Given the description of an element on the screen output the (x, y) to click on. 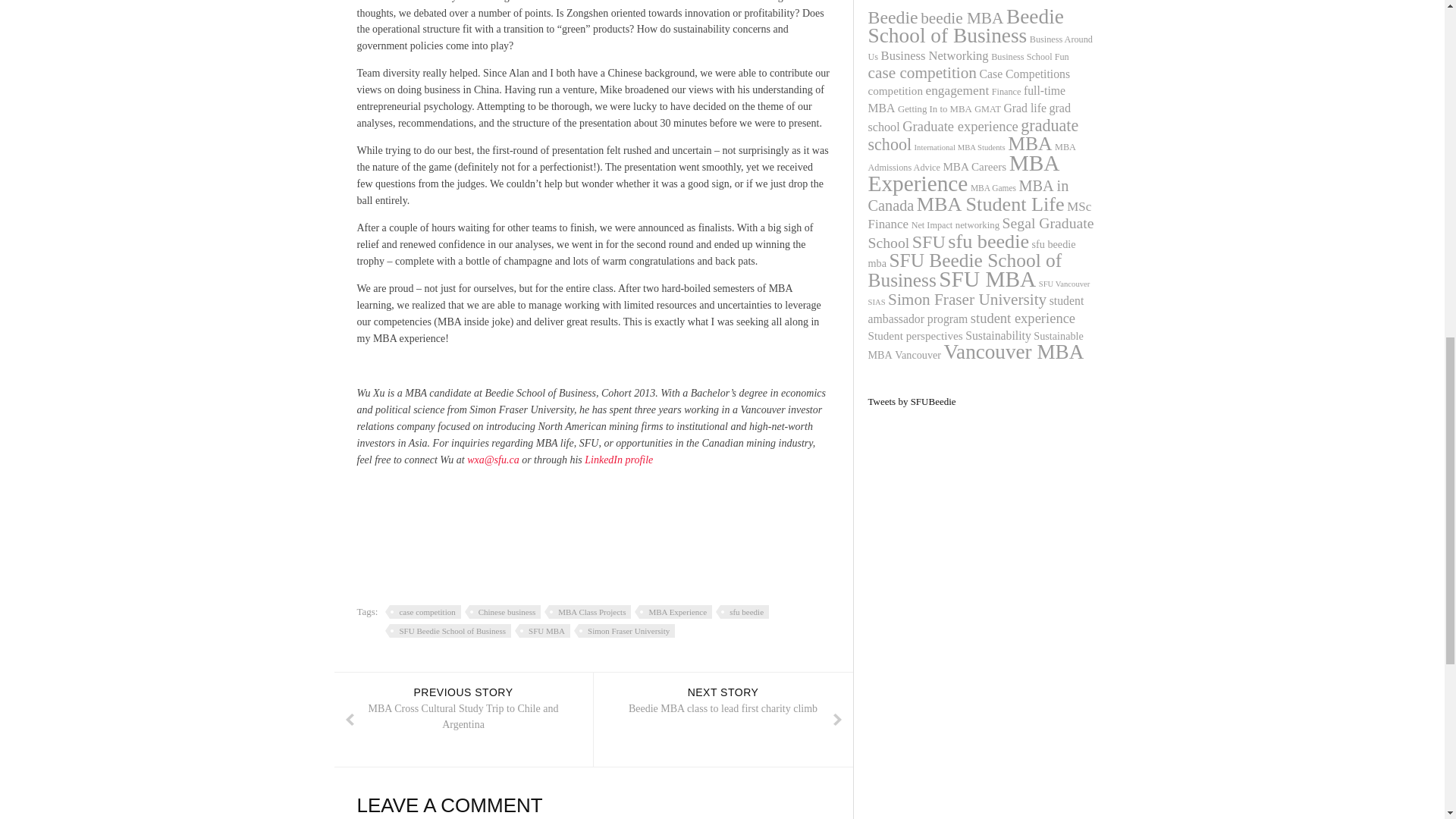
LinkedIn profile (721, 719)
MBA Class Projects (617, 460)
sfu beedie (587, 612)
Simon Fraser University (742, 612)
Chinese business (624, 631)
MBA Experience (502, 612)
Beedie (672, 612)
SFU Beedie School of Business (892, 17)
case competition (448, 631)
SFU MBA (422, 612)
